Given the description of an element on the screen output the (x, y) to click on. 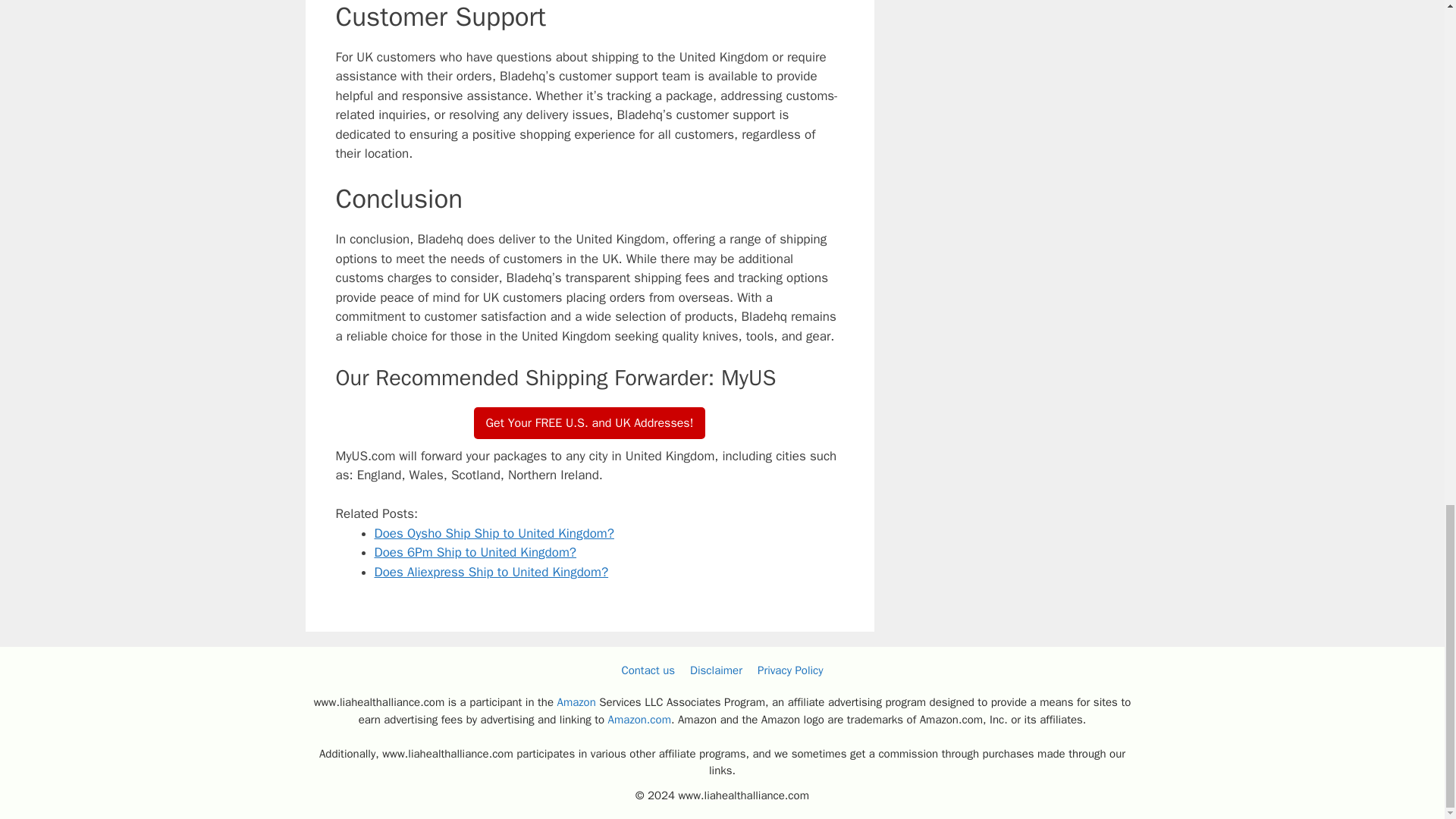
Disclaimer (716, 670)
Does 6Pm Ship to United Kingdom? (475, 552)
Does Aliexpress Ship to United Kingdom? (491, 571)
Privacy Policy (790, 670)
Amazon (575, 702)
Contact us (648, 670)
Does Oysho Ship Ship to United Kingdom? (494, 533)
Get Your FREE U.S. and UK Addresses! (590, 422)
Amazon.com (639, 719)
